Given the description of an element on the screen output the (x, y) to click on. 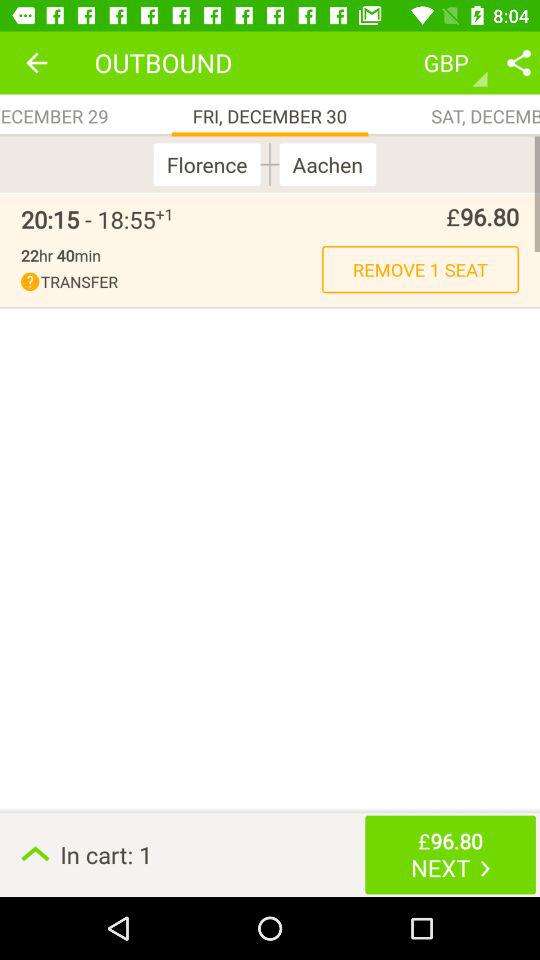
location (519, 62)
